Given the description of an element on the screen output the (x, y) to click on. 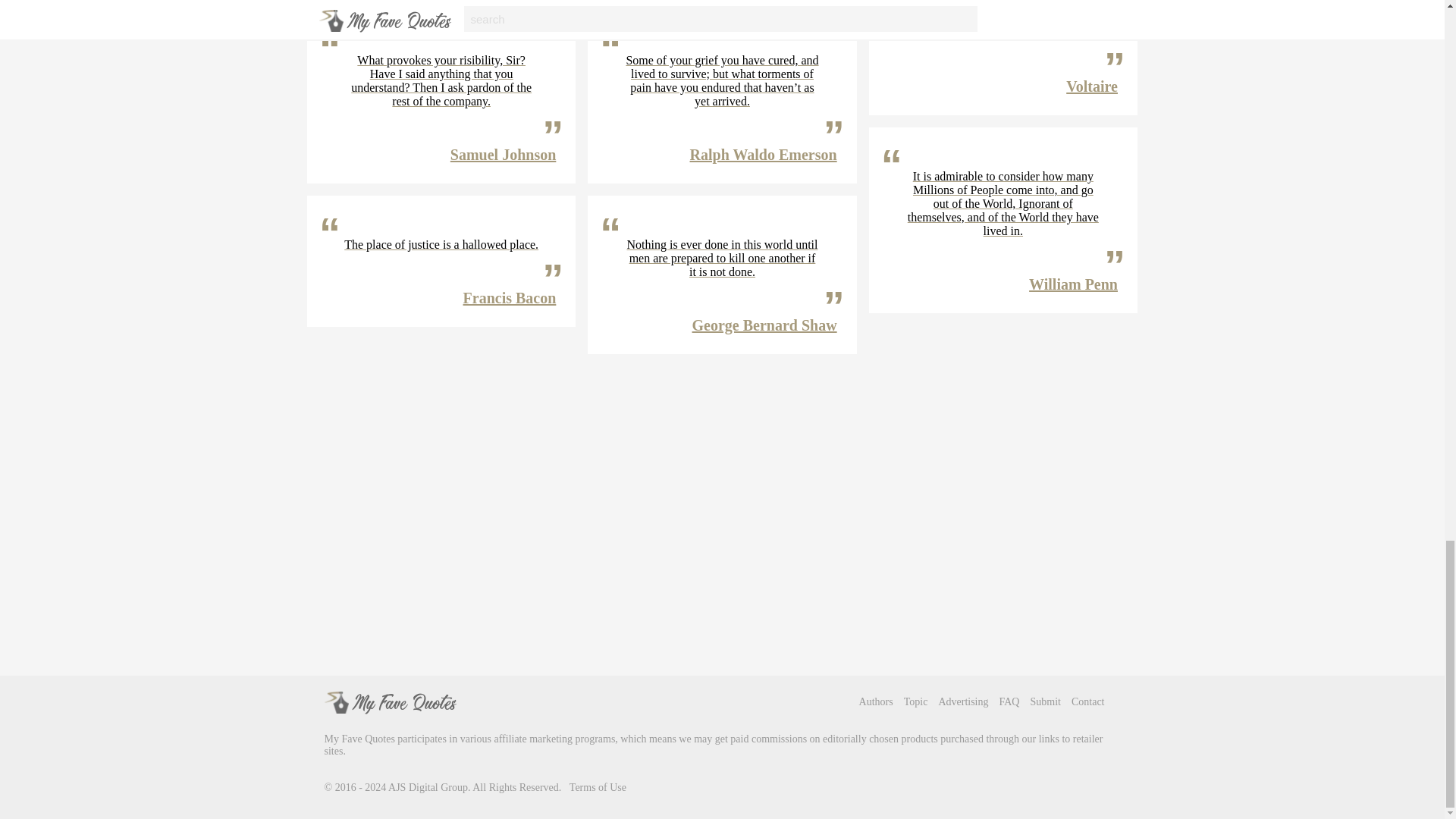
The place of justice is a hallowed place. (440, 244)
Samuel Johnson (502, 154)
